Given the description of an element on the screen output the (x, y) to click on. 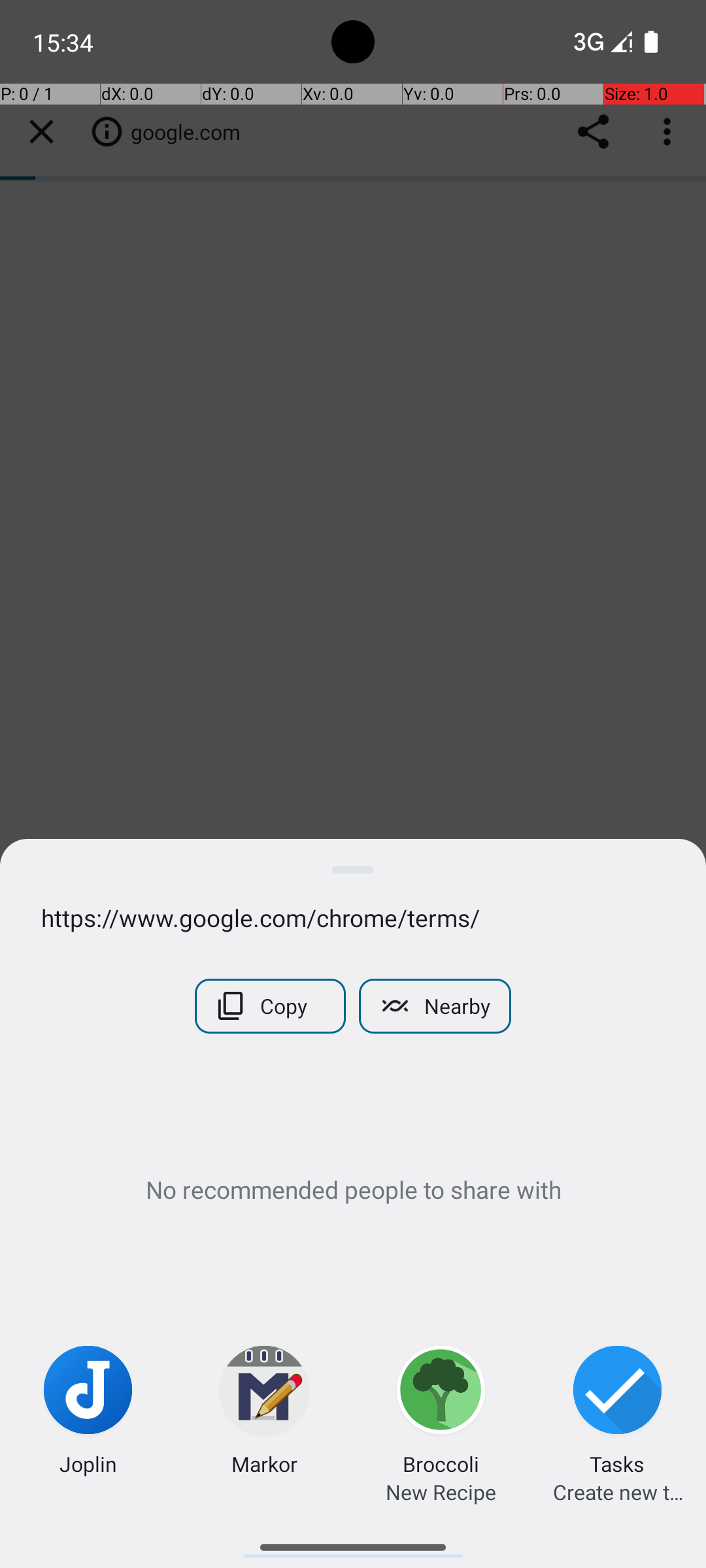
Apps list Element type: android.widget.ImageView (353, 1541)
https://www.google.com/chrome/terms/ Element type: android.widget.TextView (352, 917)
Copy Element type: android.widget.Button (269, 1005)
Nearby Element type: android.widget.Button (434, 1005)
No recommended people to share with Element type: android.widget.TextView (353, 1189)
Joplin Element type: android.widget.TextView (88, 1463)
Markor Element type: android.widget.TextView (264, 1463)
Broccoli Element type: android.widget.TextView (440, 1463)
New Recipe Element type: android.widget.TextView (440, 1491)
Tasks Element type: android.widget.TextView (617, 1463)
Create new task Element type: android.widget.TextView (617, 1491)
